Given the description of an element on the screen output the (x, y) to click on. 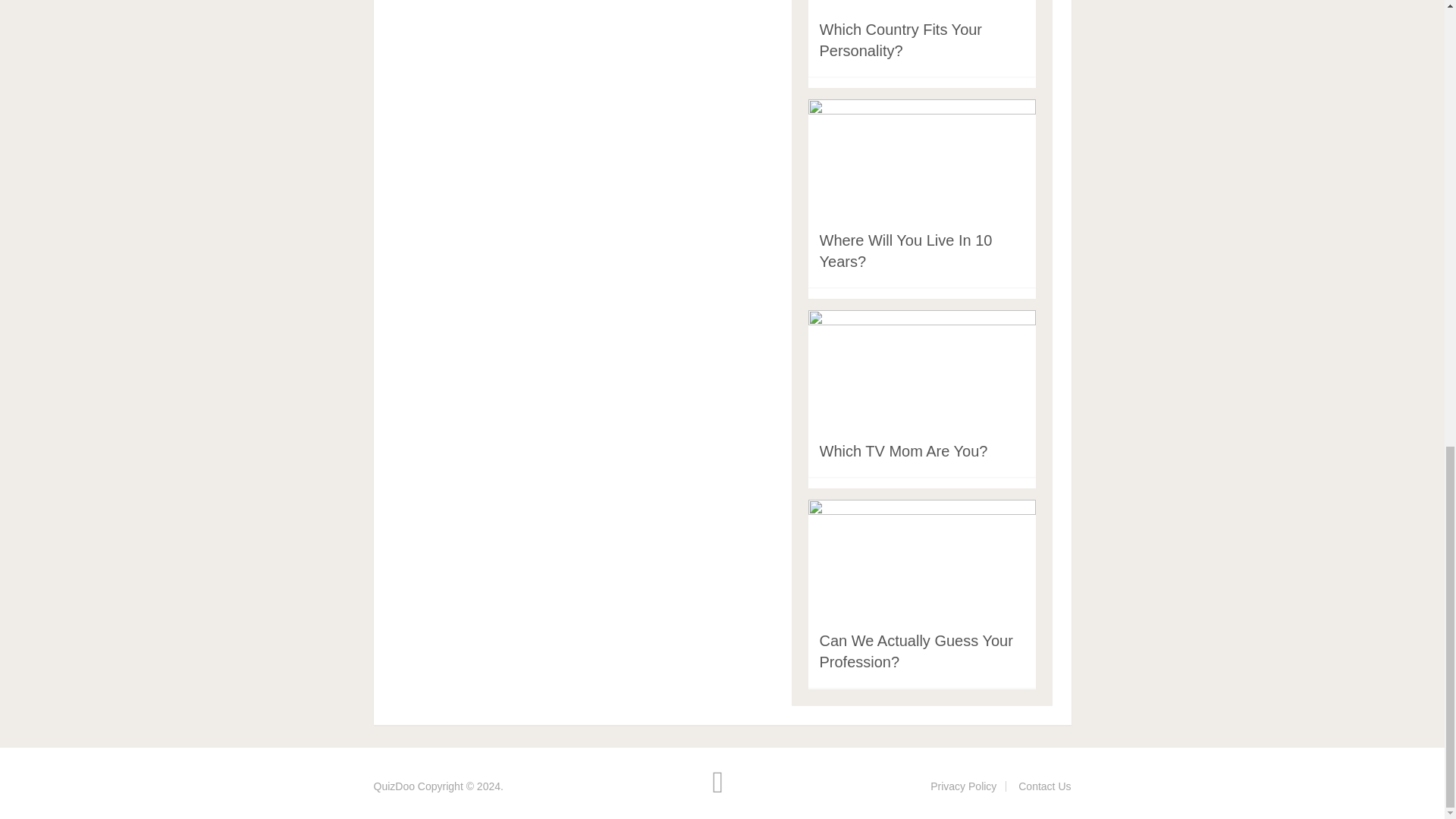
Can We Actually Guess Your Profession? (914, 651)
Where Will You Live In 10 Years? (904, 250)
Which TV Mom Are You? (902, 451)
Which Country Fits Your Personality? (899, 39)
QuizDoo (392, 786)
Privacy Policy (962, 786)
Where Will You Live In 10 Years? (904, 250)
Contact Us (1043, 786)
Which TV Mom Are You? (902, 451)
Which Country Fits Your Personality? (899, 39)
